Given the description of an element on the screen output the (x, y) to click on. 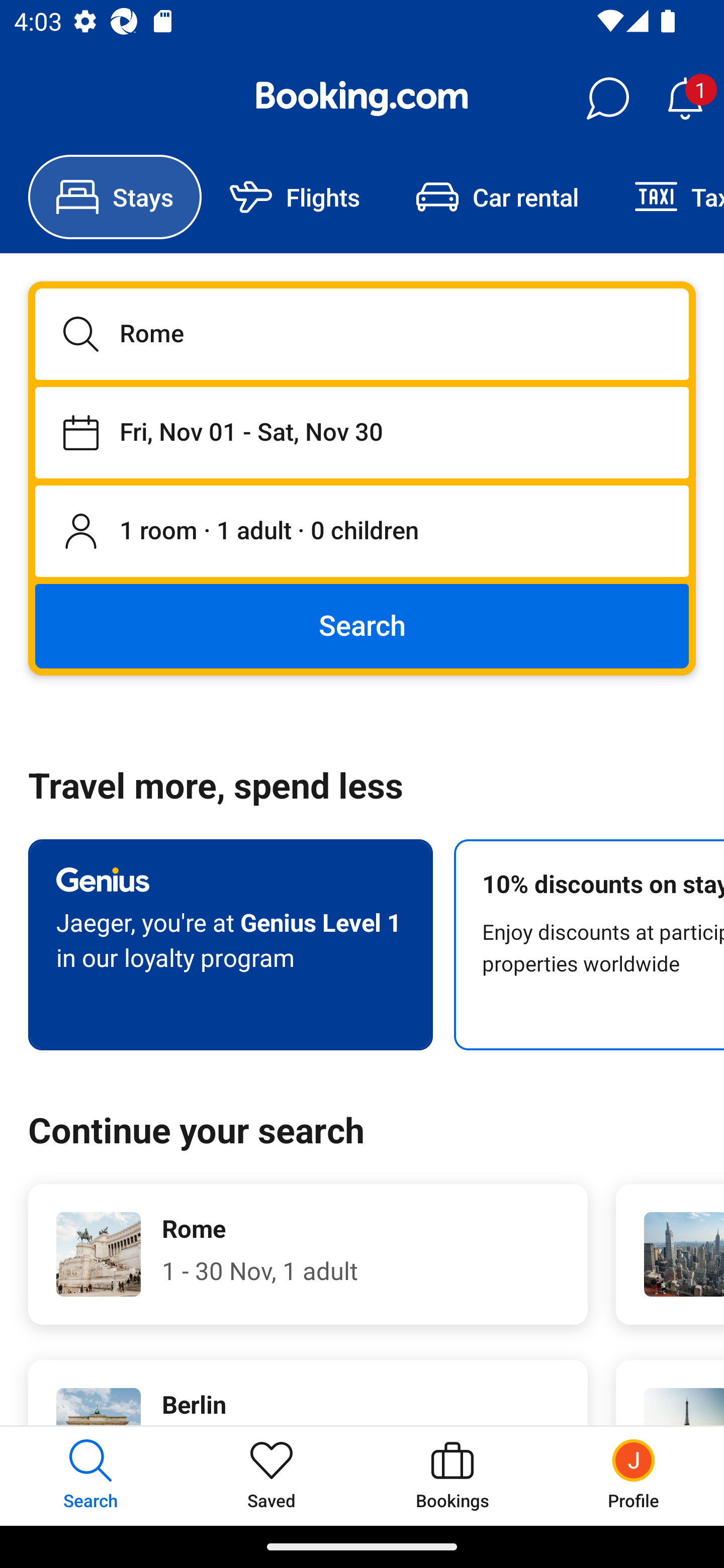
Messages (607, 98)
Notifications (685, 98)
Stays (114, 197)
Flights (294, 197)
Car rental (497, 197)
Taxi (665, 197)
Rome (361, 333)
Staying from Fri, Nov 01 until Sat, Nov 30 (361, 432)
1 room, 1 adult, 0 children (361, 531)
Search (361, 625)
Rome 1 - 30 Nov, 1 adult (307, 1253)
Saved (271, 1475)
Bookings (452, 1475)
Profile (633, 1475)
